Given the description of an element on the screen output the (x, y) to click on. 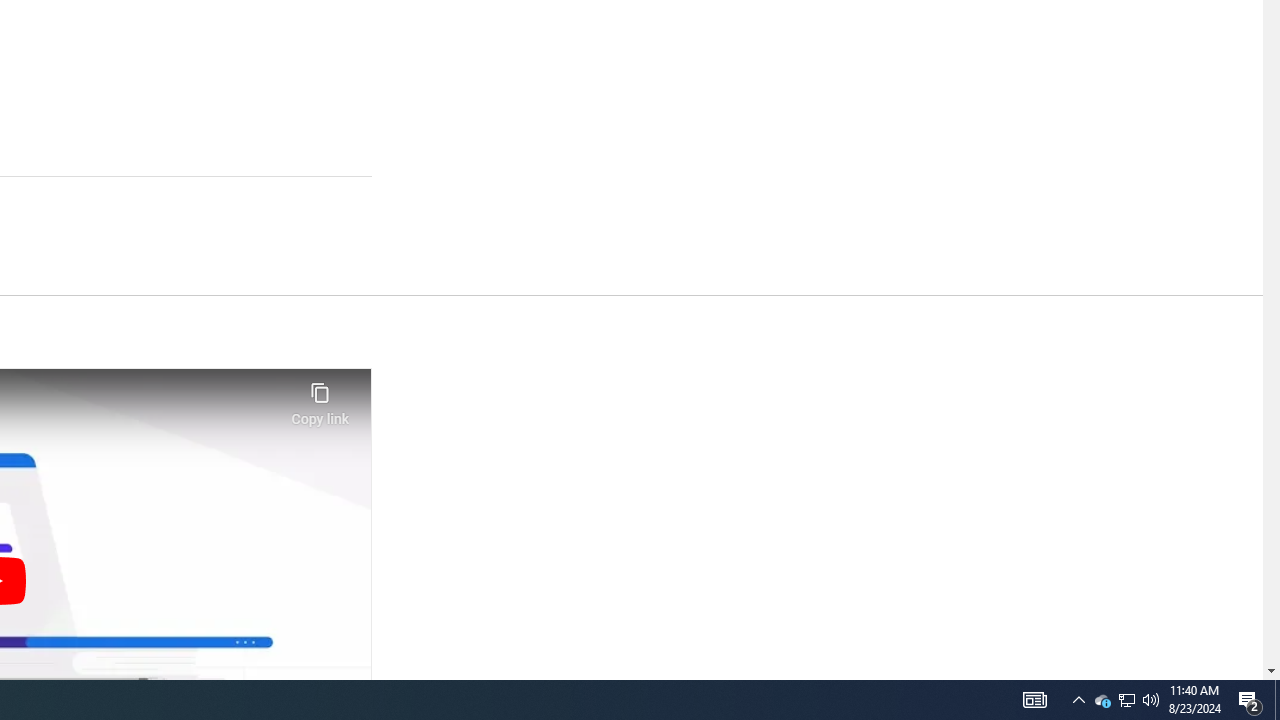
Copy link (319, 398)
